Given the description of an element on the screen output the (x, y) to click on. 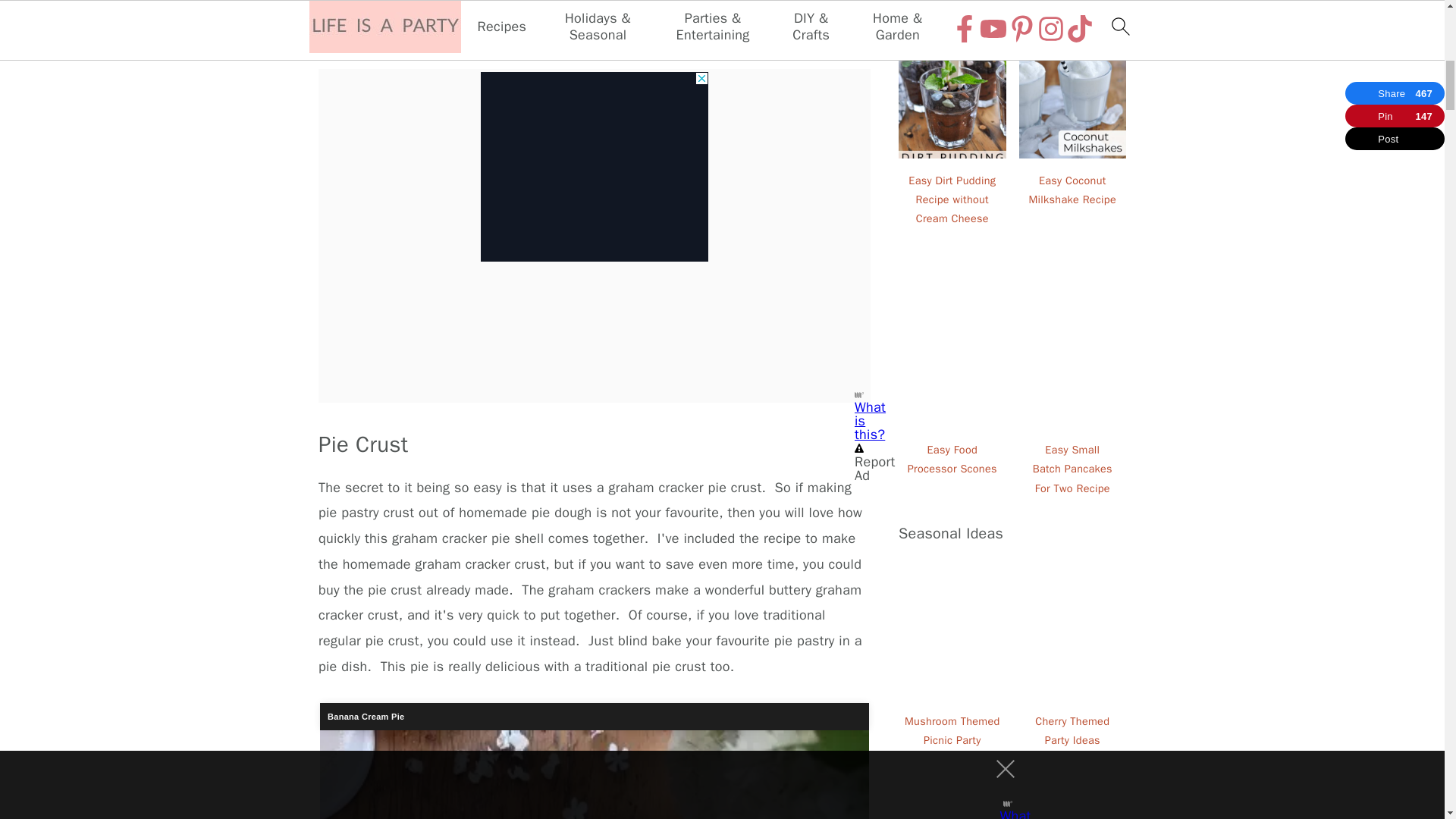
3rd party ad content (593, 163)
